Given the description of an element on the screen output the (x, y) to click on. 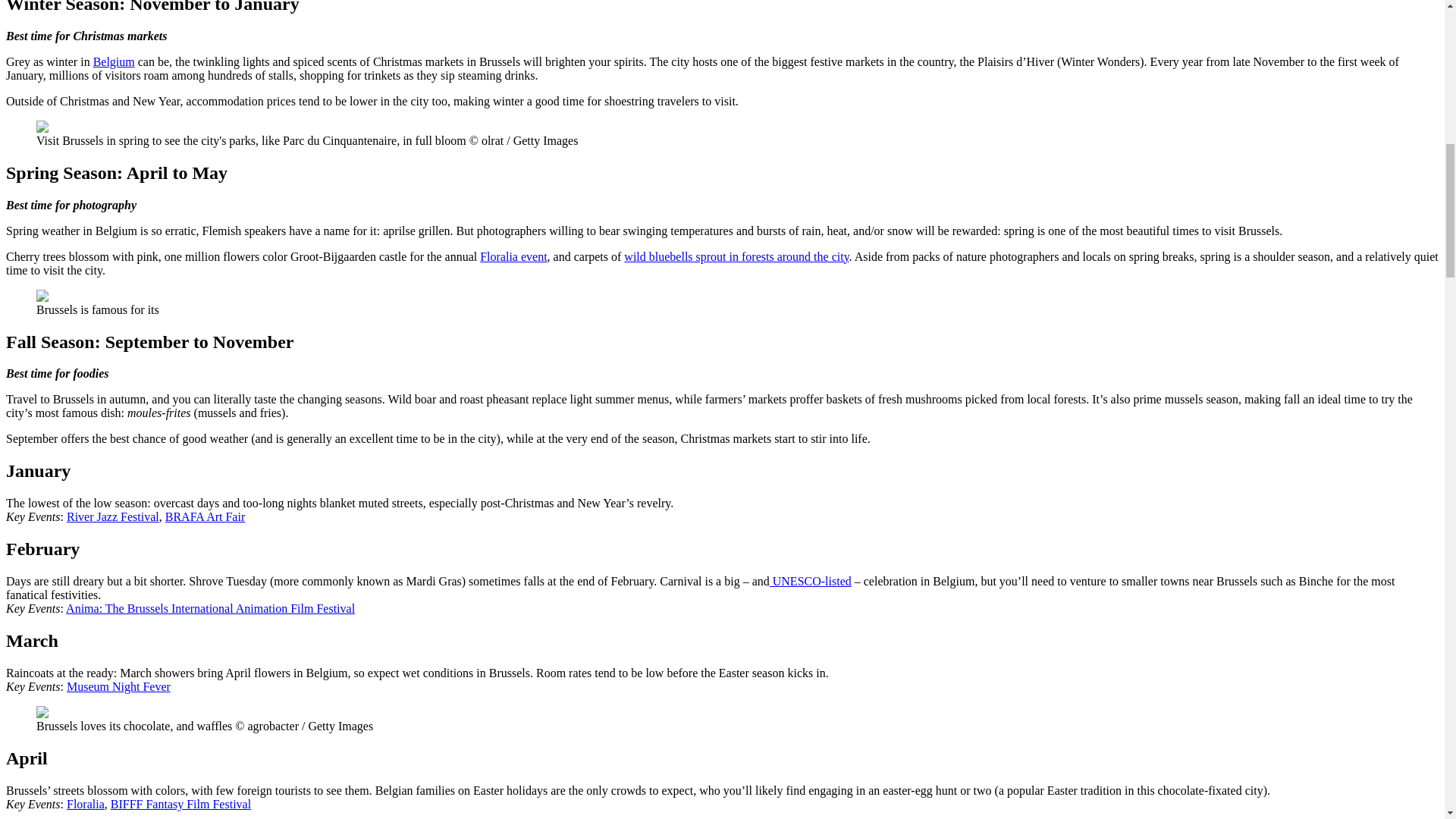
Anima: The Brussels International Animation Film Festival (210, 608)
Belgium (114, 61)
UNESCO-listed (810, 581)
River Jazz Festival (112, 516)
Floralia event (513, 256)
wild bluebells sprout in forests around the city (736, 256)
BRAFA Art Fair (205, 516)
Museum Night Fever (118, 686)
